Given the description of an element on the screen output the (x, y) to click on. 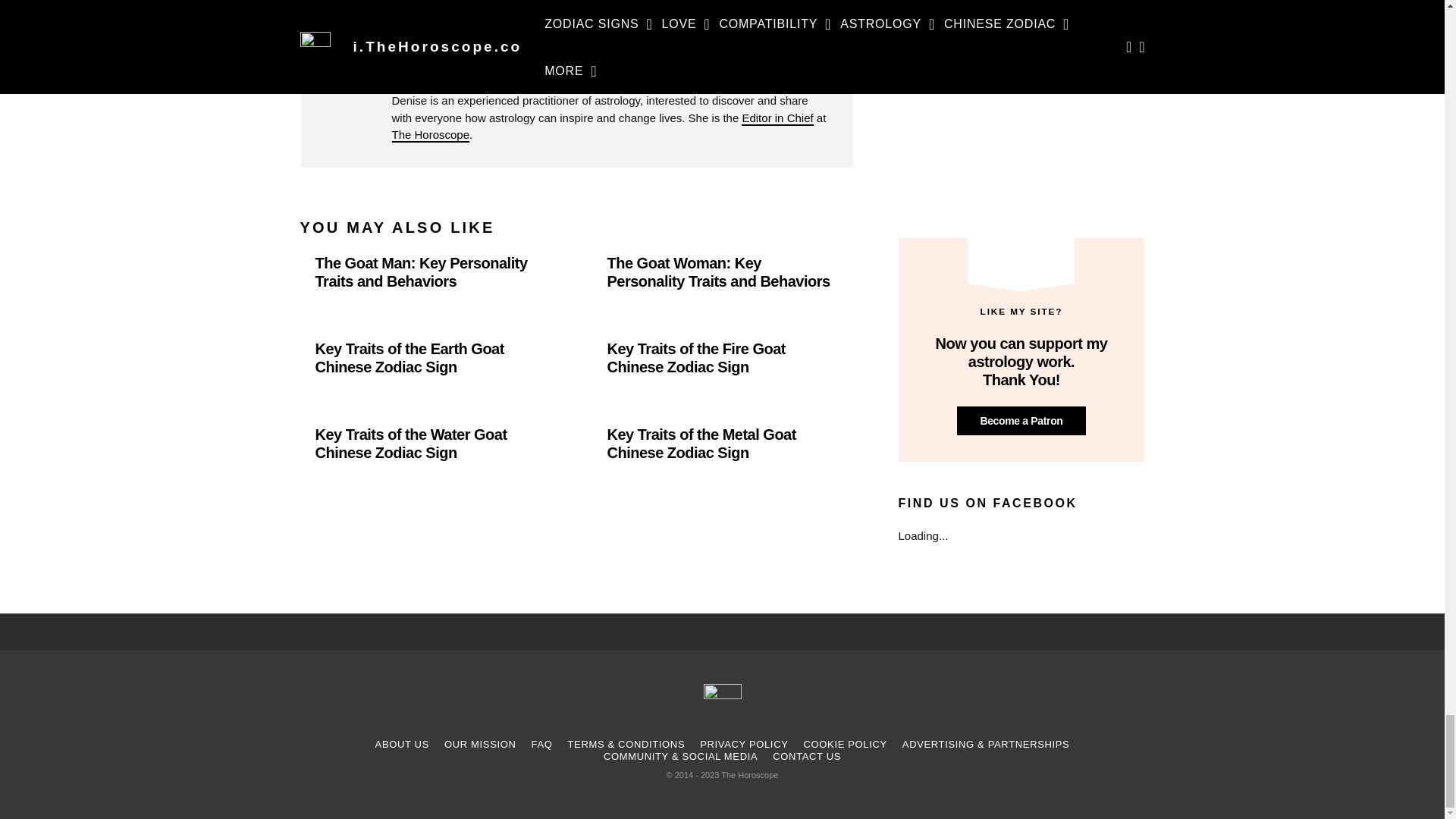
The Horoscope Co (429, 133)
Denise (776, 117)
